Given the description of an element on the screen output the (x, y) to click on. 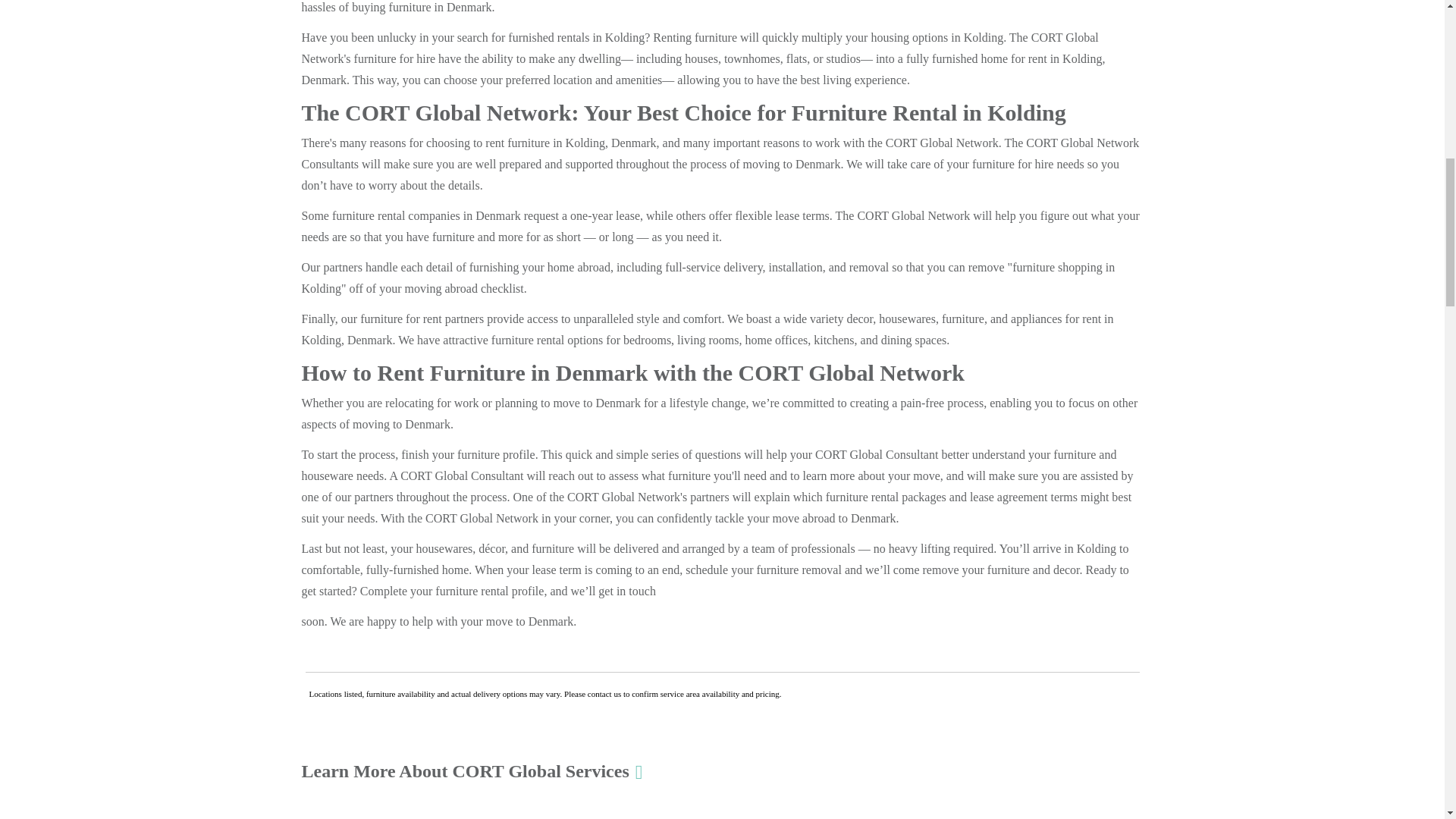
Learn More About CORT Global Services (472, 771)
